Given the description of an element on the screen output the (x, y) to click on. 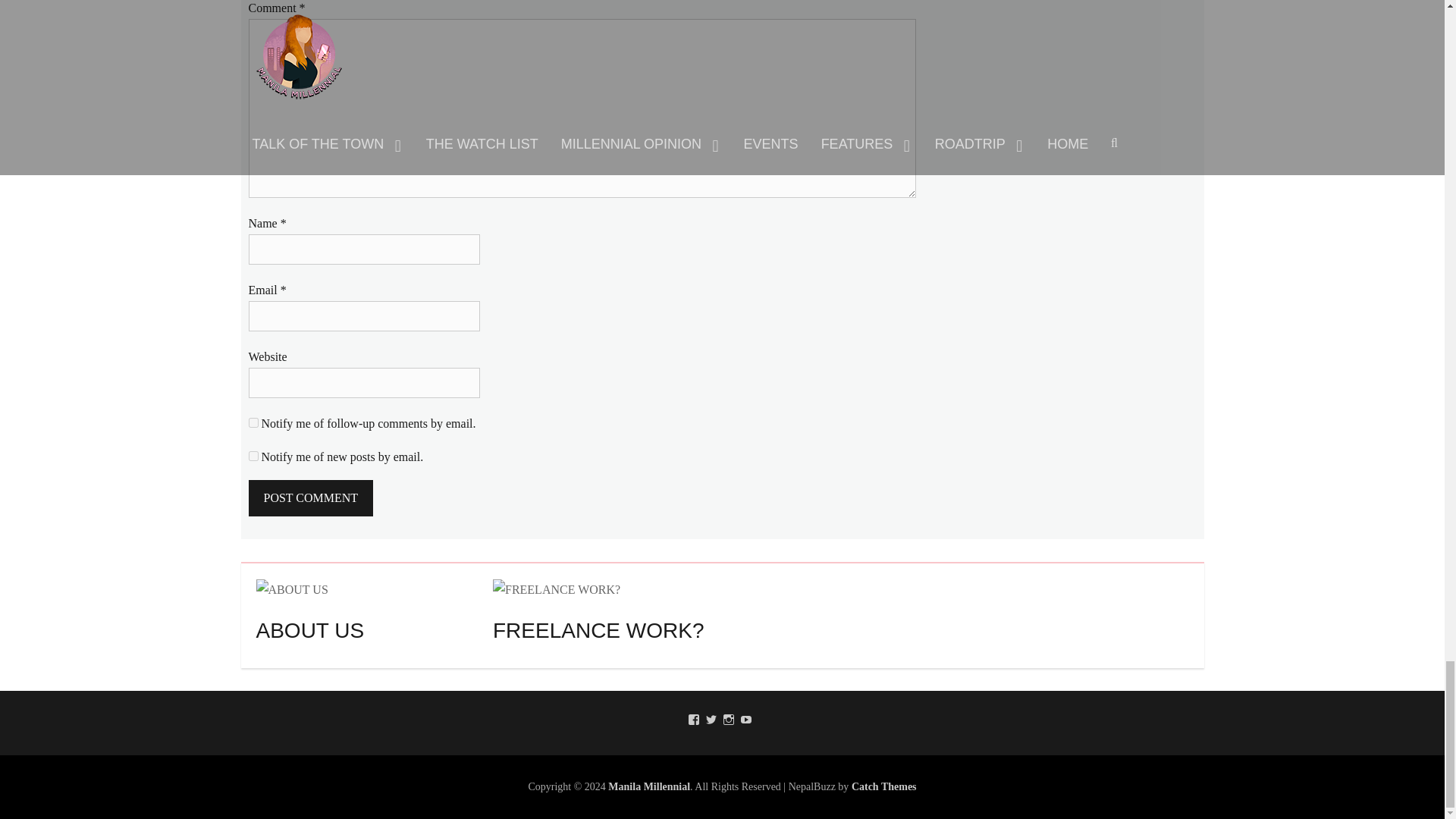
Post Comment (311, 497)
subscribe (253, 422)
FREELANCE WORK? (556, 588)
subscribe (253, 456)
FREELANCE WORK? (556, 589)
ABOUT US (292, 589)
ABOUT US (292, 588)
